Given the description of an element on the screen output the (x, y) to click on. 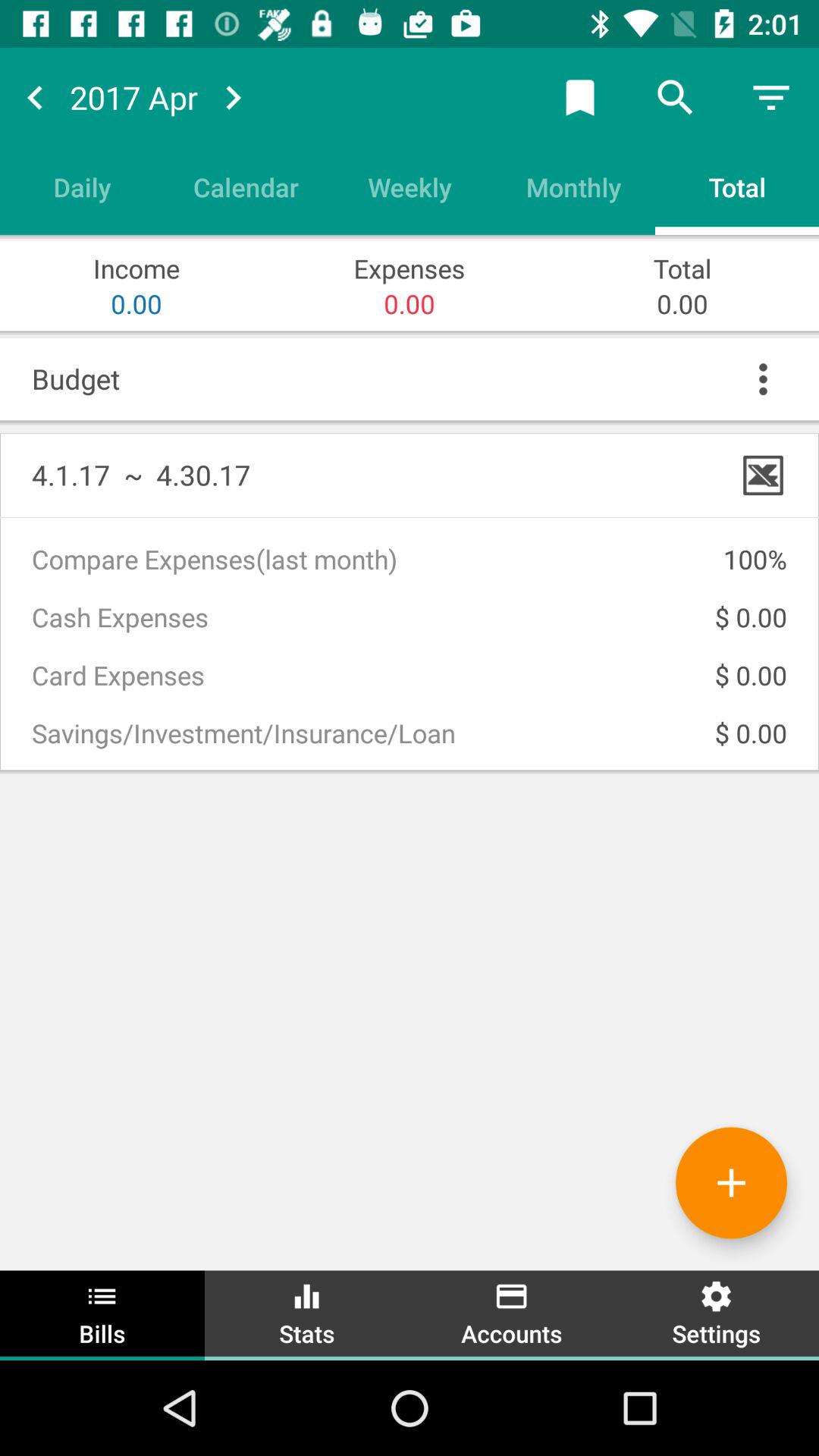
press the icon below 2017 apr (245, 186)
